Given the description of an element on the screen output the (x, y) to click on. 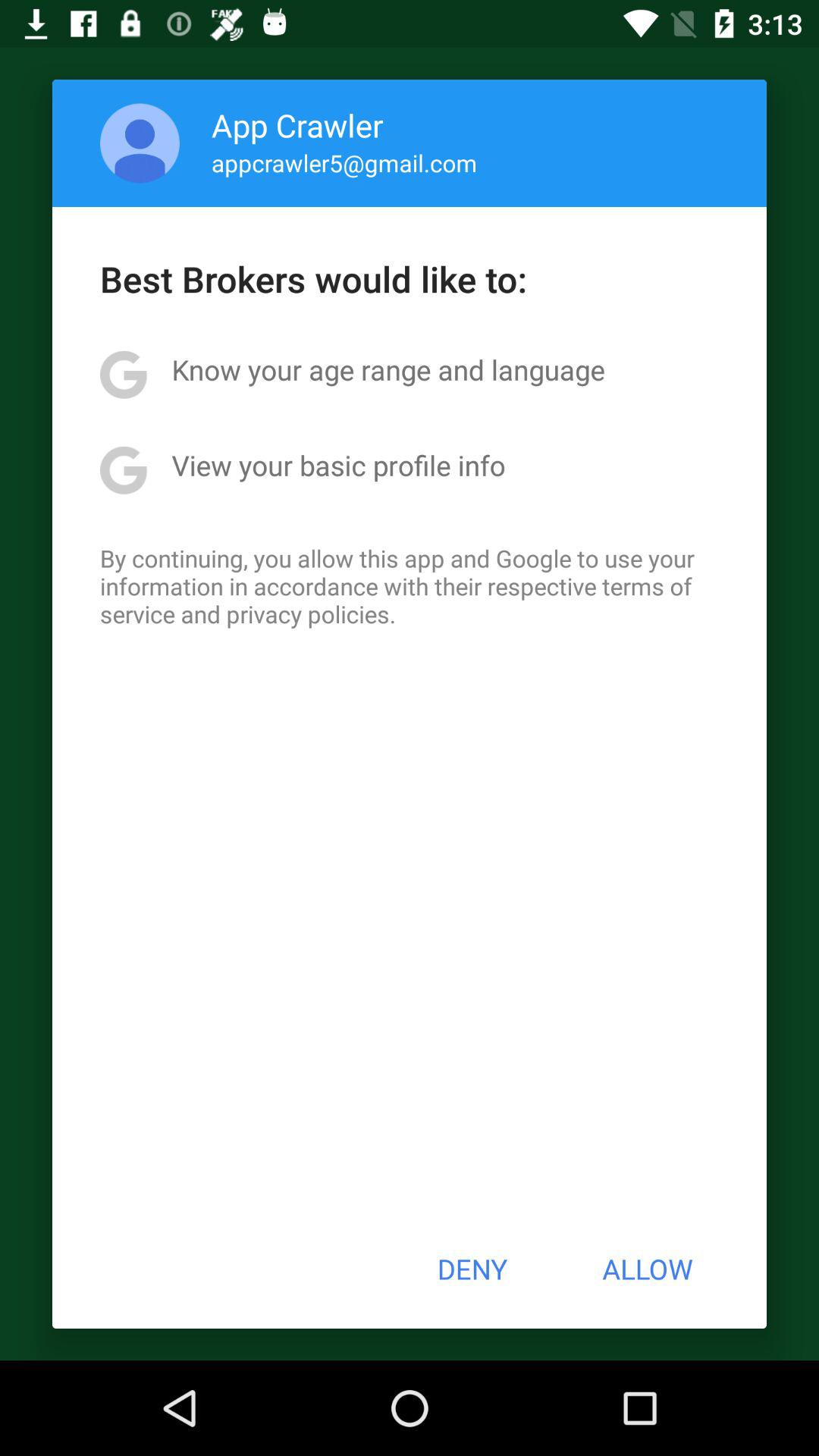
select the button next to allow icon (471, 1268)
